Given the description of an element on the screen output the (x, y) to click on. 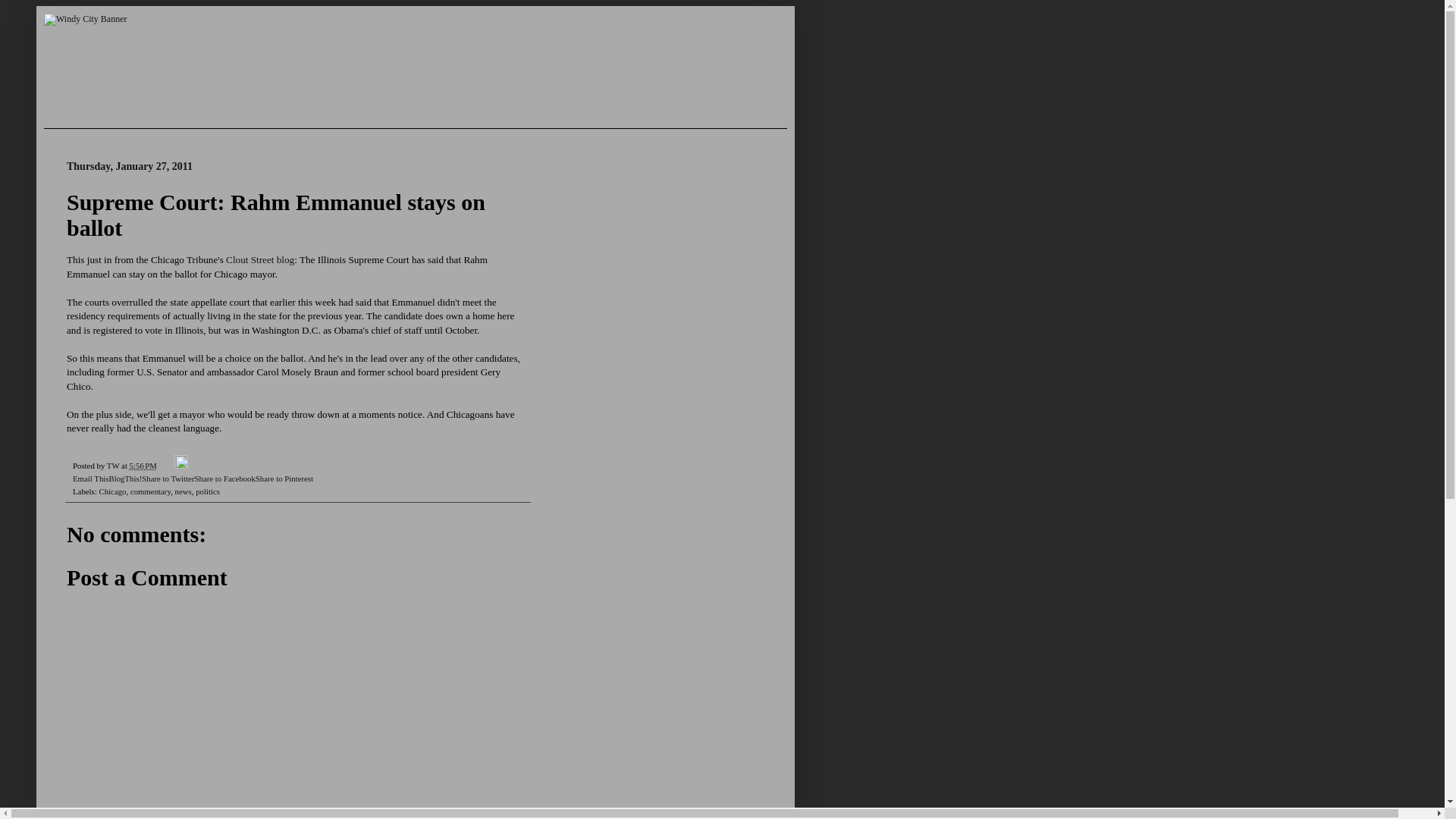
Edit Post (180, 465)
Clout Street blog (259, 259)
Share to Pinterest (284, 478)
Share to Twitter (167, 478)
Email This (89, 478)
commentary (150, 491)
Chicago (112, 491)
Share to Facebook (223, 478)
Share to Twitter (167, 478)
permanent link (143, 465)
Email Post (166, 465)
Share to Facebook (223, 478)
Share to Pinterest (284, 478)
BlogThis! (124, 478)
